Given the description of an element on the screen output the (x, y) to click on. 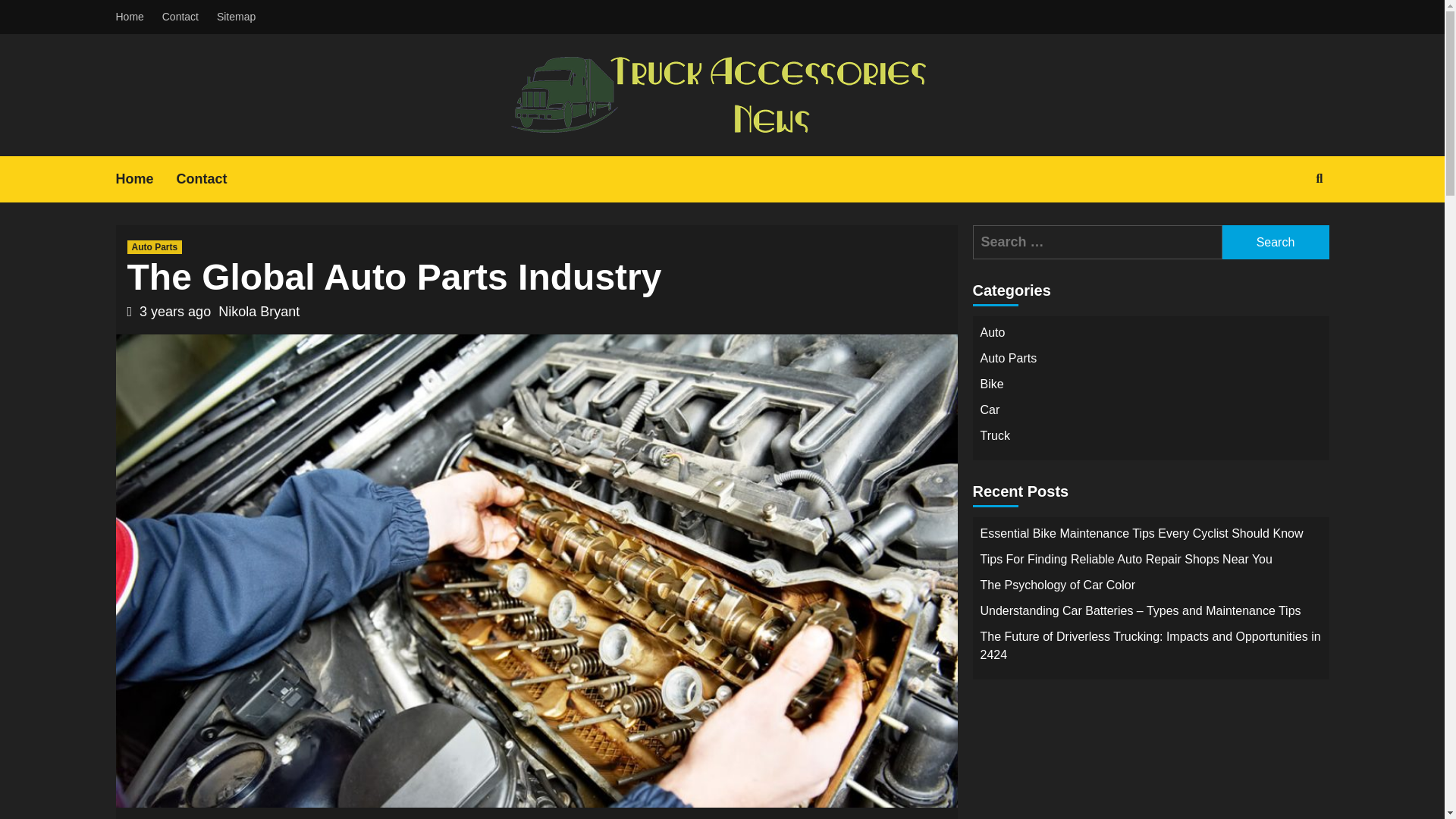
Auto Parts (155, 246)
Nikola Bryant (258, 311)
Search (1276, 242)
Contact (180, 17)
Contact (213, 179)
Home (145, 179)
Search (1319, 178)
Sitemap (236, 17)
Search (1276, 242)
Search (1276, 242)
Search (1283, 227)
Home (133, 17)
